Given the description of an element on the screen output the (x, y) to click on. 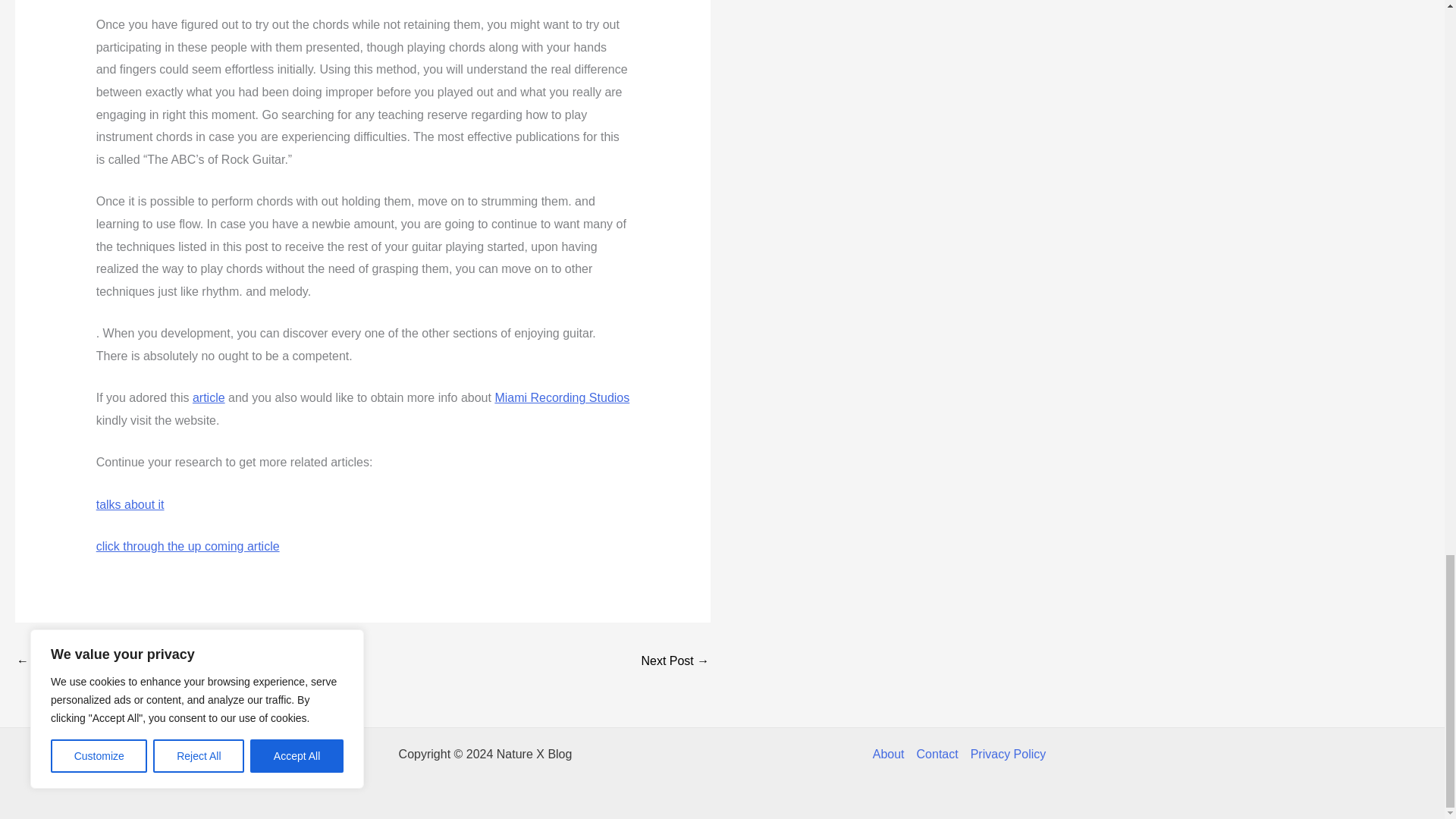
article (208, 397)
click through the up coming article (187, 545)
talks about it (130, 504)
Cleaning STRATEGIES FOR Oily Hair (674, 662)
Miami Recording Studios (561, 397)
